Given the description of an element on the screen output the (x, y) to click on. 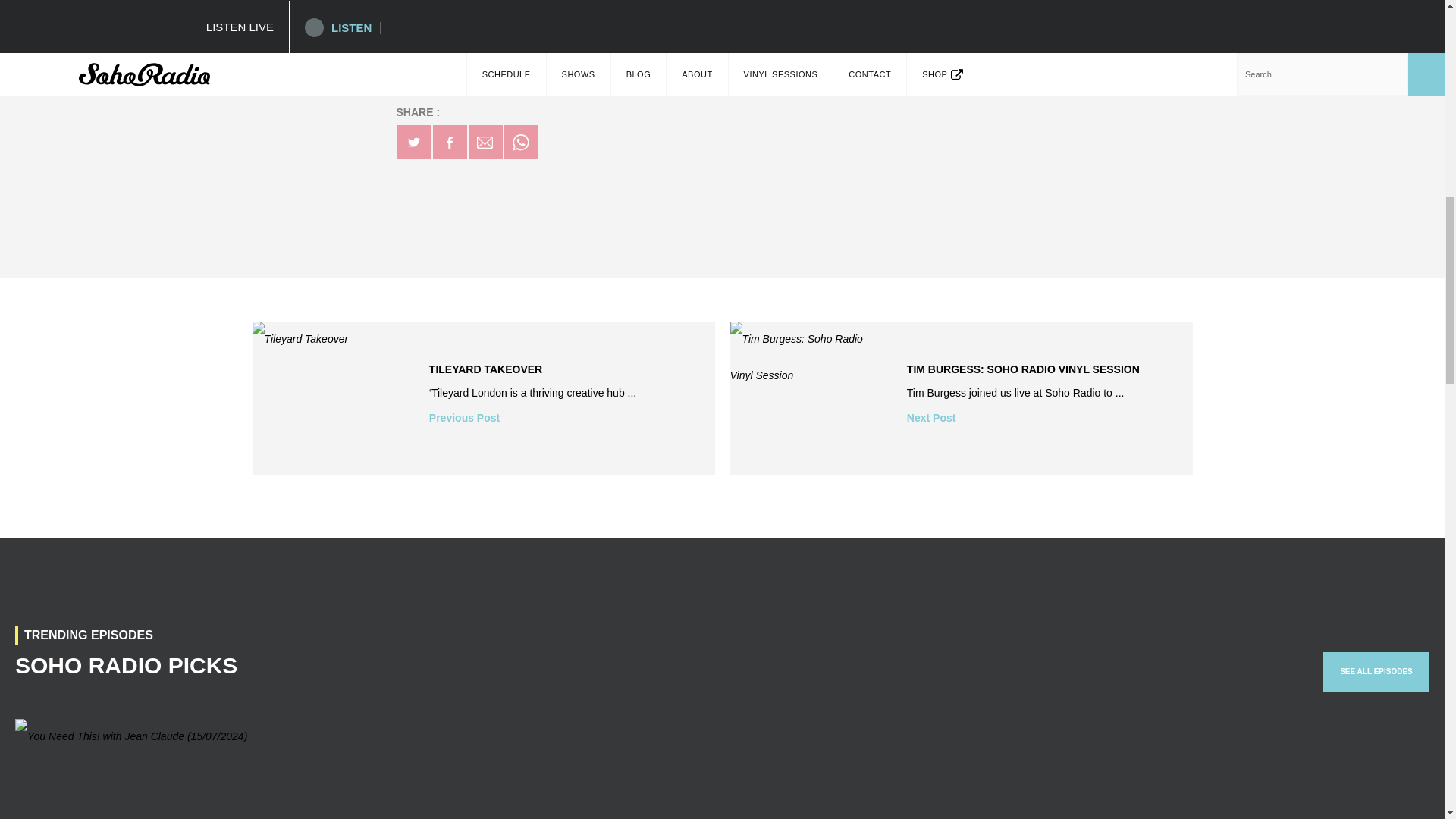
livinglibraries.uk. (661, 78)
Tim Burgess: Soho Radio Vinyl Session (960, 398)
Tileyard Takeover (482, 398)
